Given the description of an element on the screen output the (x, y) to click on. 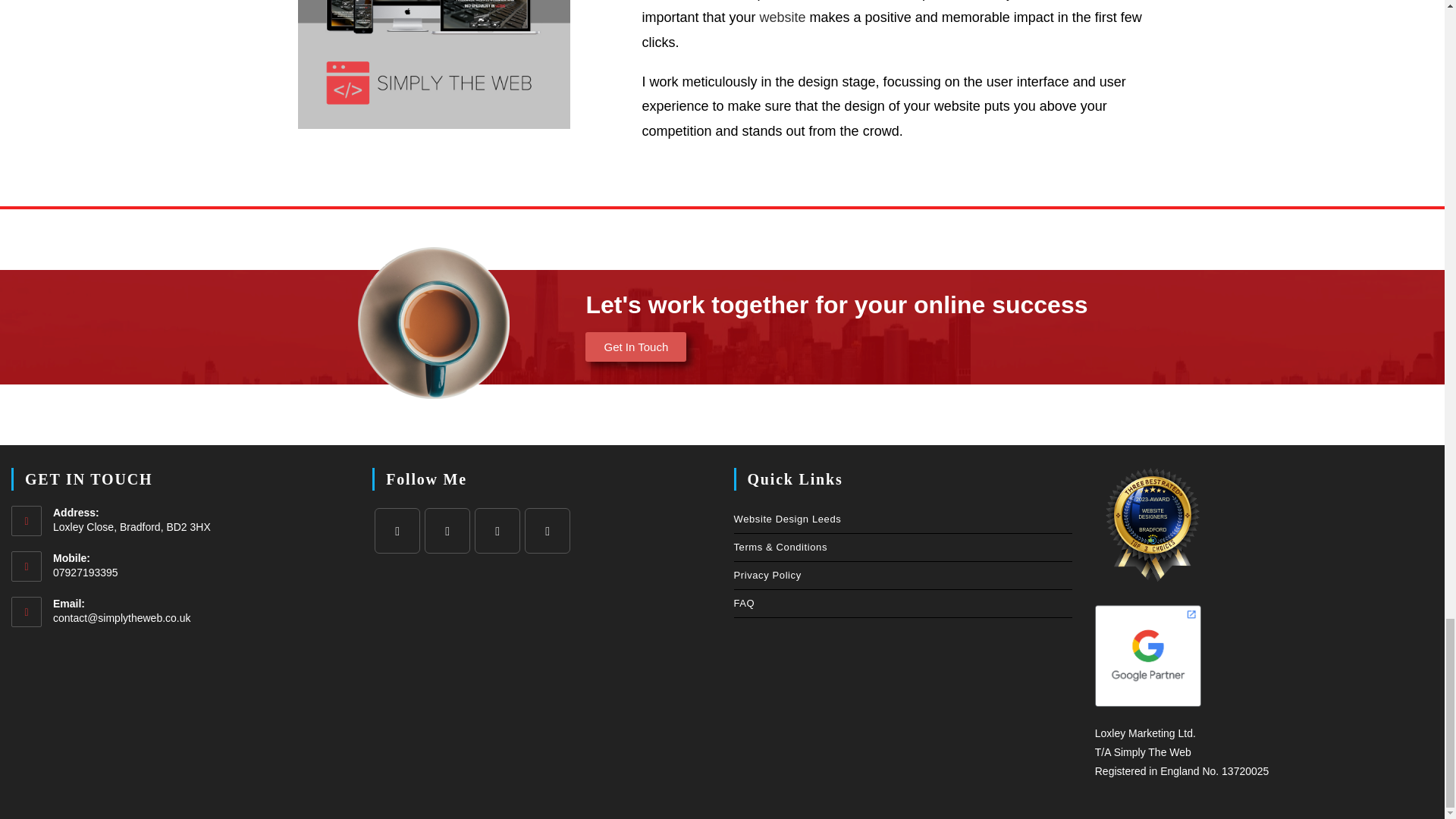
website (783, 17)
coffee (433, 322)
Get In Touch (635, 346)
07927193395 (200, 572)
